Given the description of an element on the screen output the (x, y) to click on. 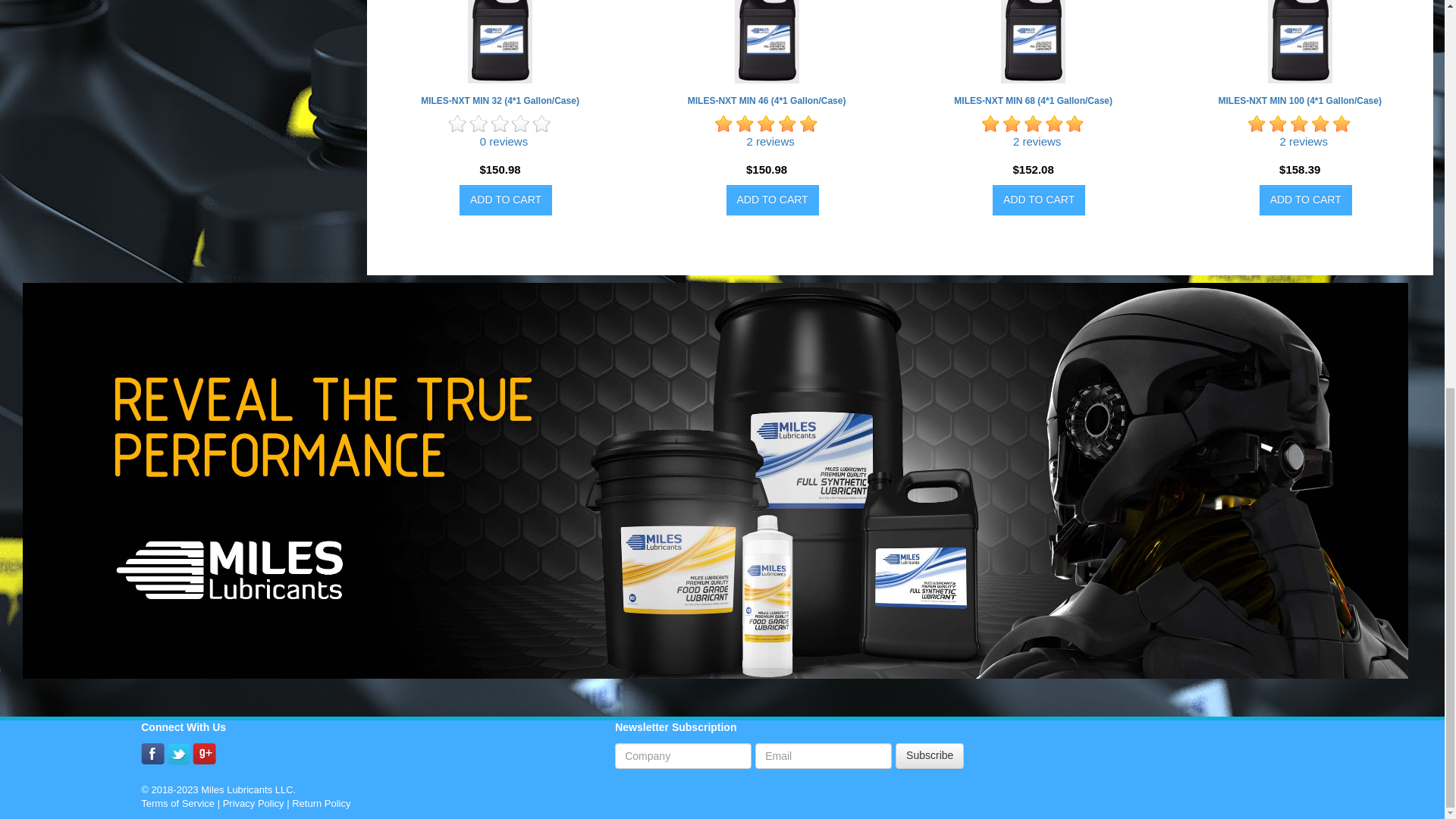
ADD TO CART (772, 200)
ADD TO CART (505, 200)
2 reviews (769, 141)
2 reviews (1037, 141)
0 reviews (503, 141)
Subscribe (929, 755)
